Given the description of an element on the screen output the (x, y) to click on. 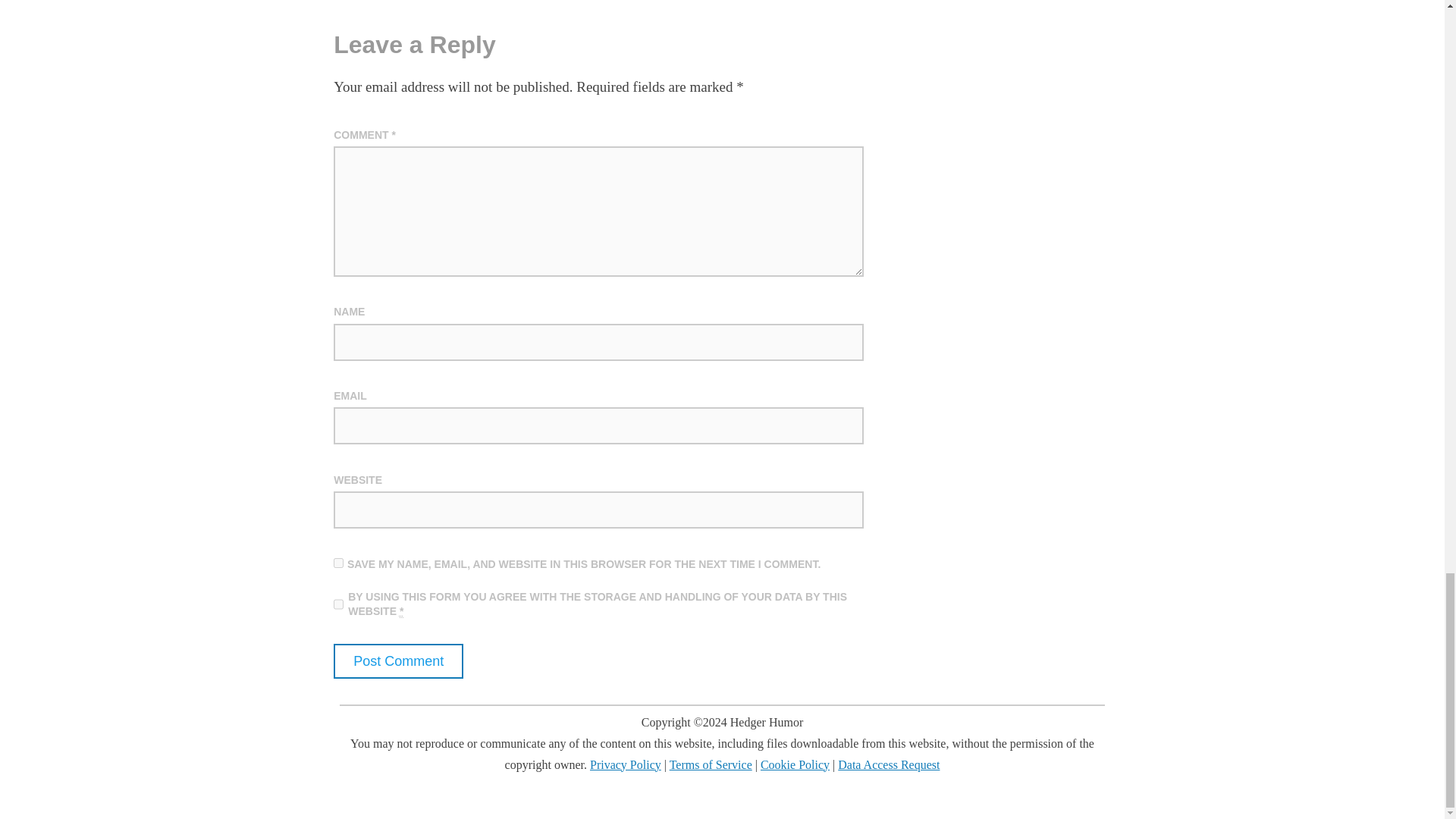
Post Comment (398, 660)
Post Comment (398, 660)
1 (338, 604)
You need to accept this checkbox. (400, 611)
yes (338, 562)
